Given the description of an element on the screen output the (x, y) to click on. 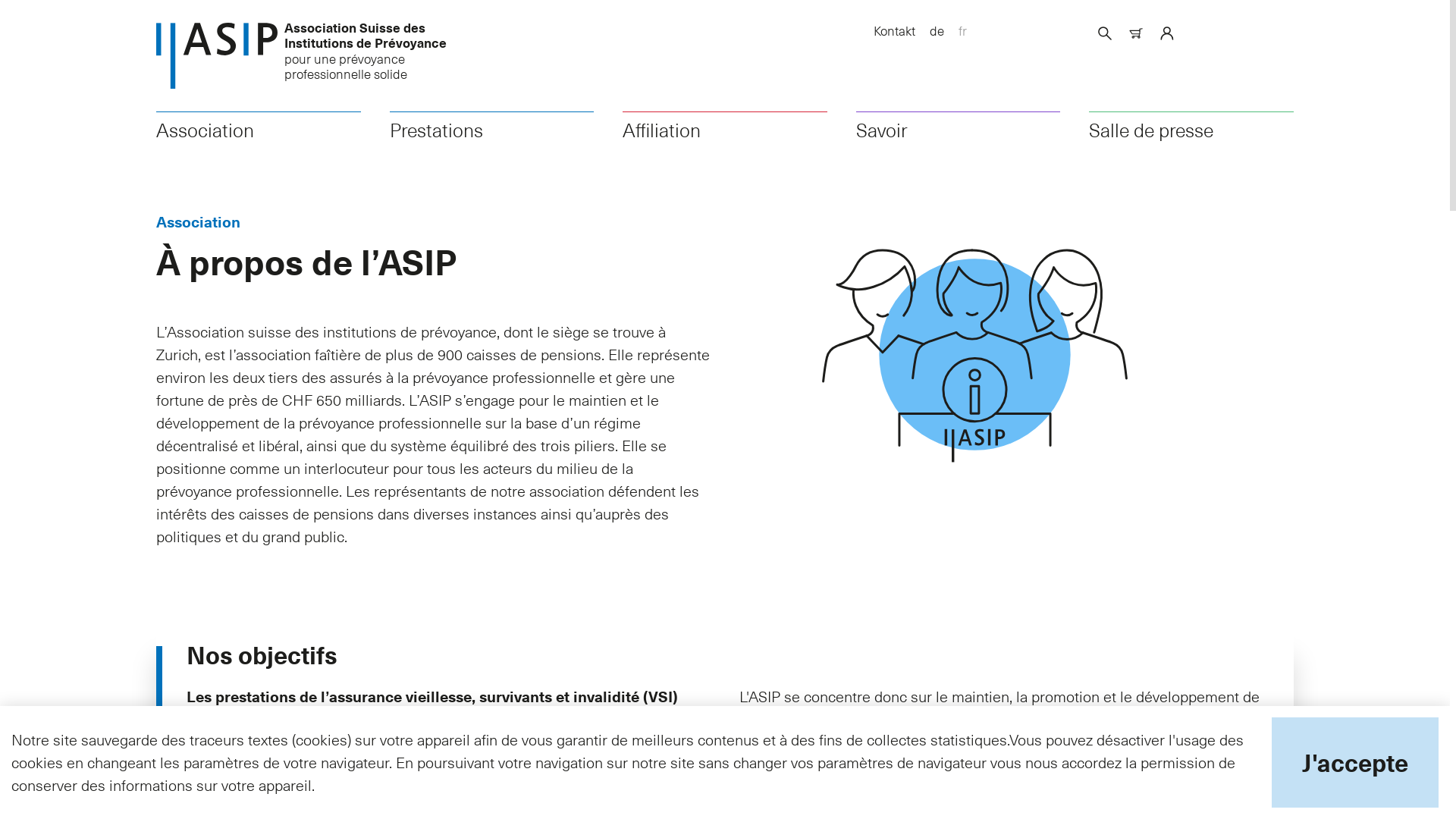
Kontakt Element type: text (894, 30)
J'accepte Element type: text (1354, 762)
fr Element type: text (962, 30)
de Element type: text (936, 30)
